Given the description of an element on the screen output the (x, y) to click on. 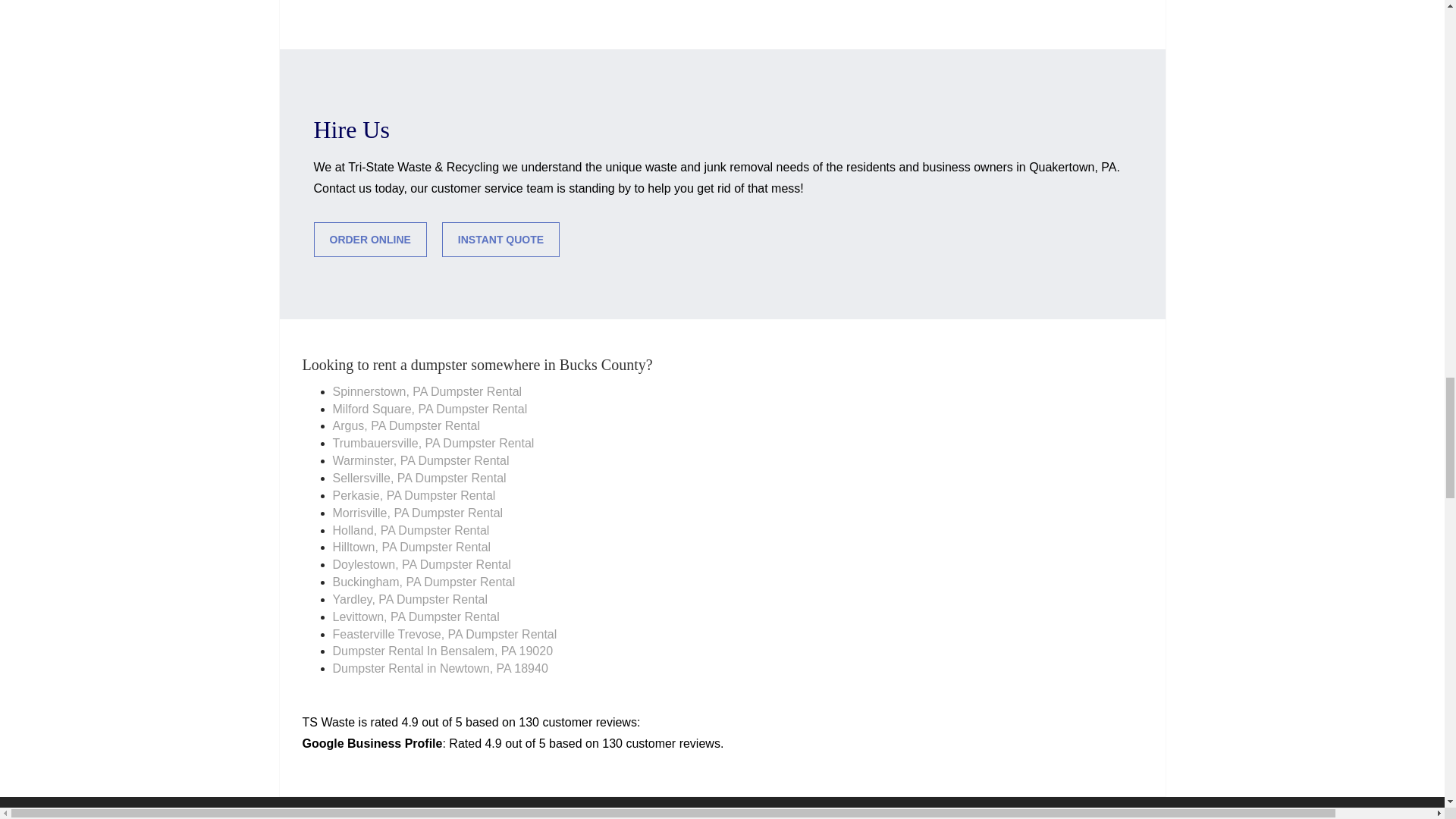
Order Online (370, 239)
Morrisville, PA Dumpster Rental (416, 513)
Doylestown, PA Dumpster Rental (421, 565)
Perkasie, PA Dumpster Rental (413, 496)
Yardley, PA Dumpster Rental (409, 600)
Milford Square, PA Dumpster Rental (429, 409)
Spinnerstown, PA Dumpster Rental (426, 392)
Hilltown, PA Dumpster Rental (410, 547)
Trumbauersville, PA Dumpster Rental (432, 443)
ORDER ONLINE (370, 239)
Holland, PA Dumpster Rental (410, 530)
INSTANT QUOTE (500, 239)
Warminster, PA Dumpster Rental (419, 461)
Argus, PA Dumpster Rental (405, 425)
Instant Quote (500, 239)
